Given the description of an element on the screen output the (x, y) to click on. 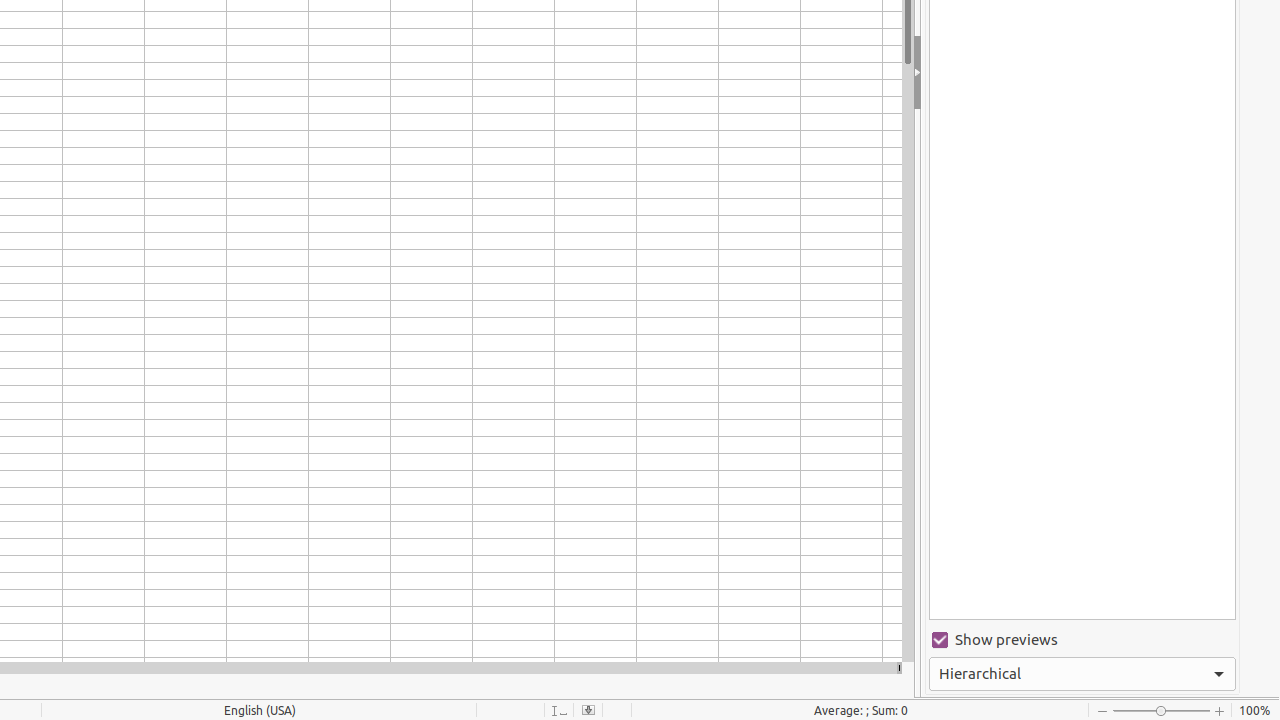
Show previews Element type: check-box (1082, 640)
